Given the description of an element on the screen output the (x, y) to click on. 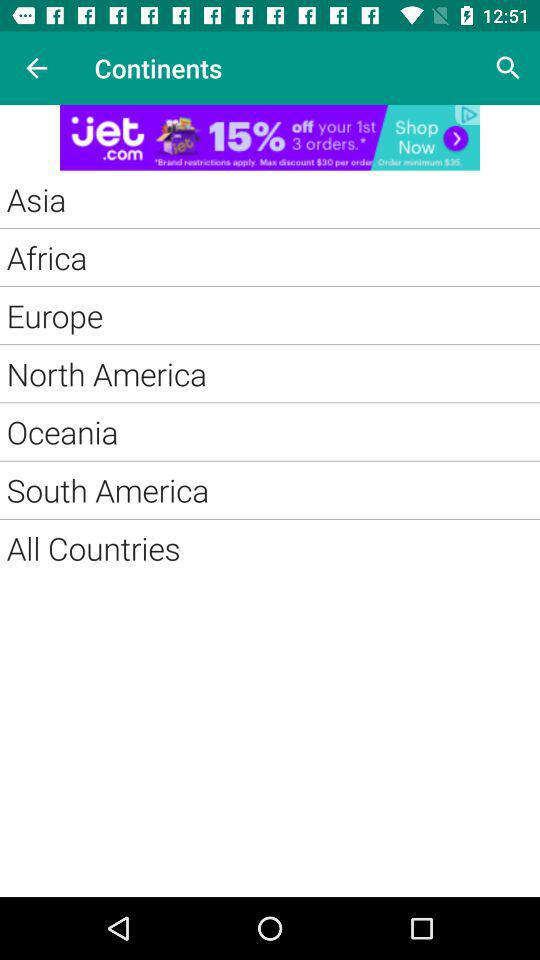
advertisements button (270, 137)
